Given the description of an element on the screen output the (x, y) to click on. 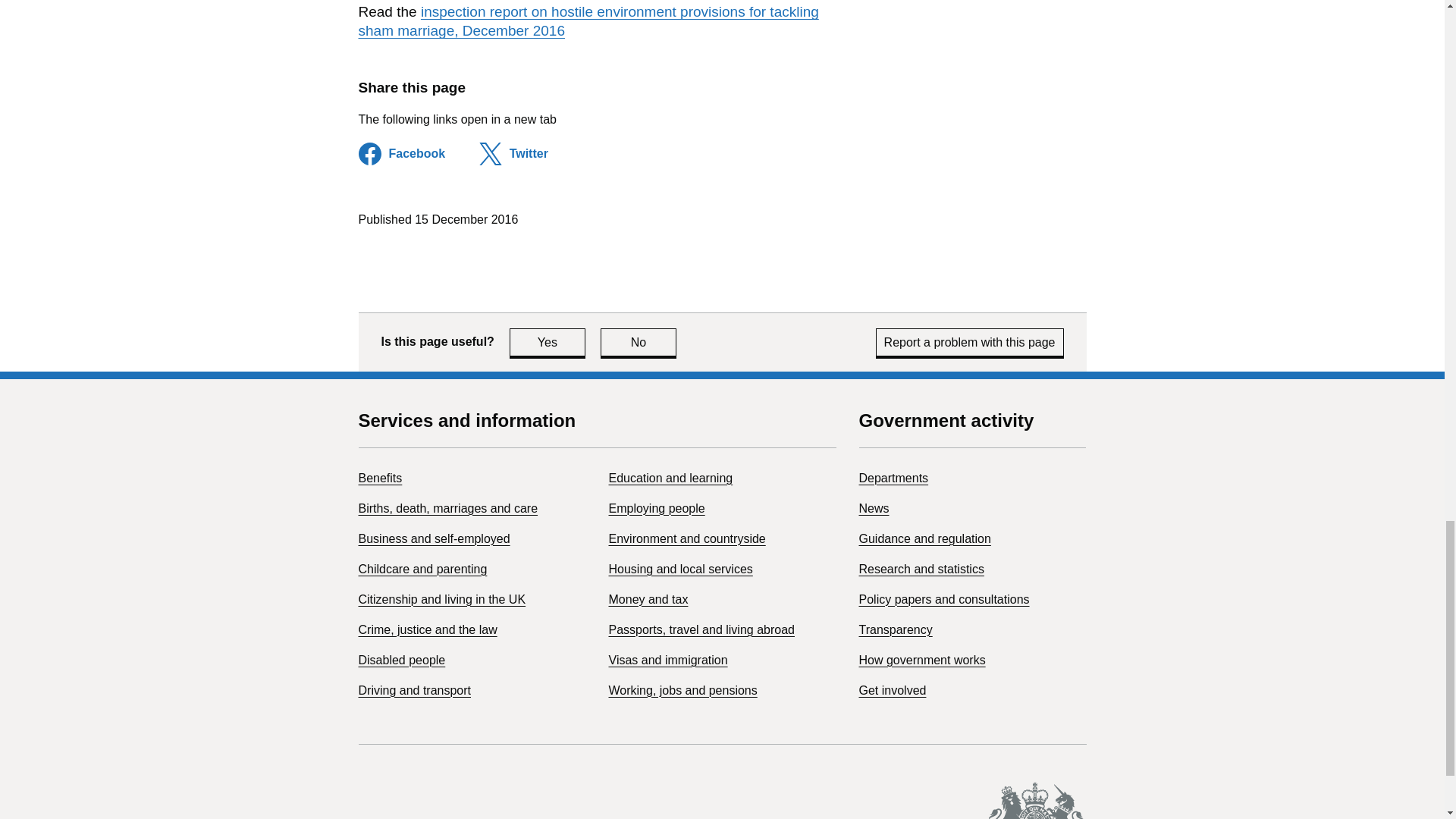
Departments (893, 477)
Education and learning (670, 477)
News (873, 508)
Report a problem with this page (970, 342)
Childcare and parenting (638, 342)
Transparency (547, 342)
Crime, justice and the law (422, 568)
Employing people (895, 629)
Business and self-employed (427, 629)
Housing and local services (656, 508)
Benefits (433, 538)
Driving and transport (680, 568)
Guidance and regulation (379, 477)
